Given the description of an element on the screen output the (x, y) to click on. 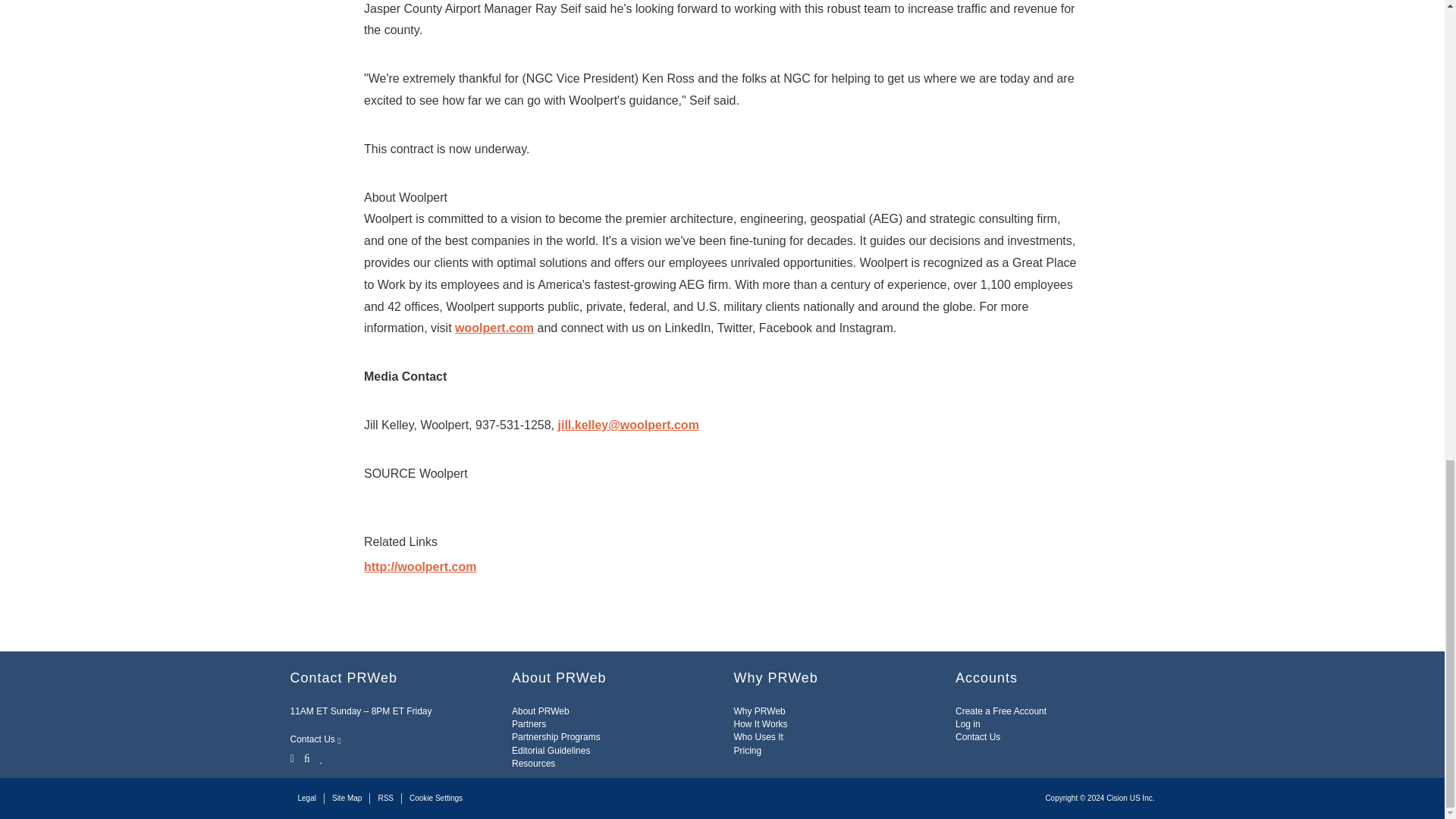
Partners (529, 724)
Partnership Programs (555, 737)
Editorial Guidelines (550, 750)
Resources (533, 763)
Facebook (306, 757)
About PRWeb (540, 710)
Why PRWeb (759, 710)
